Given the description of an element on the screen output the (x, y) to click on. 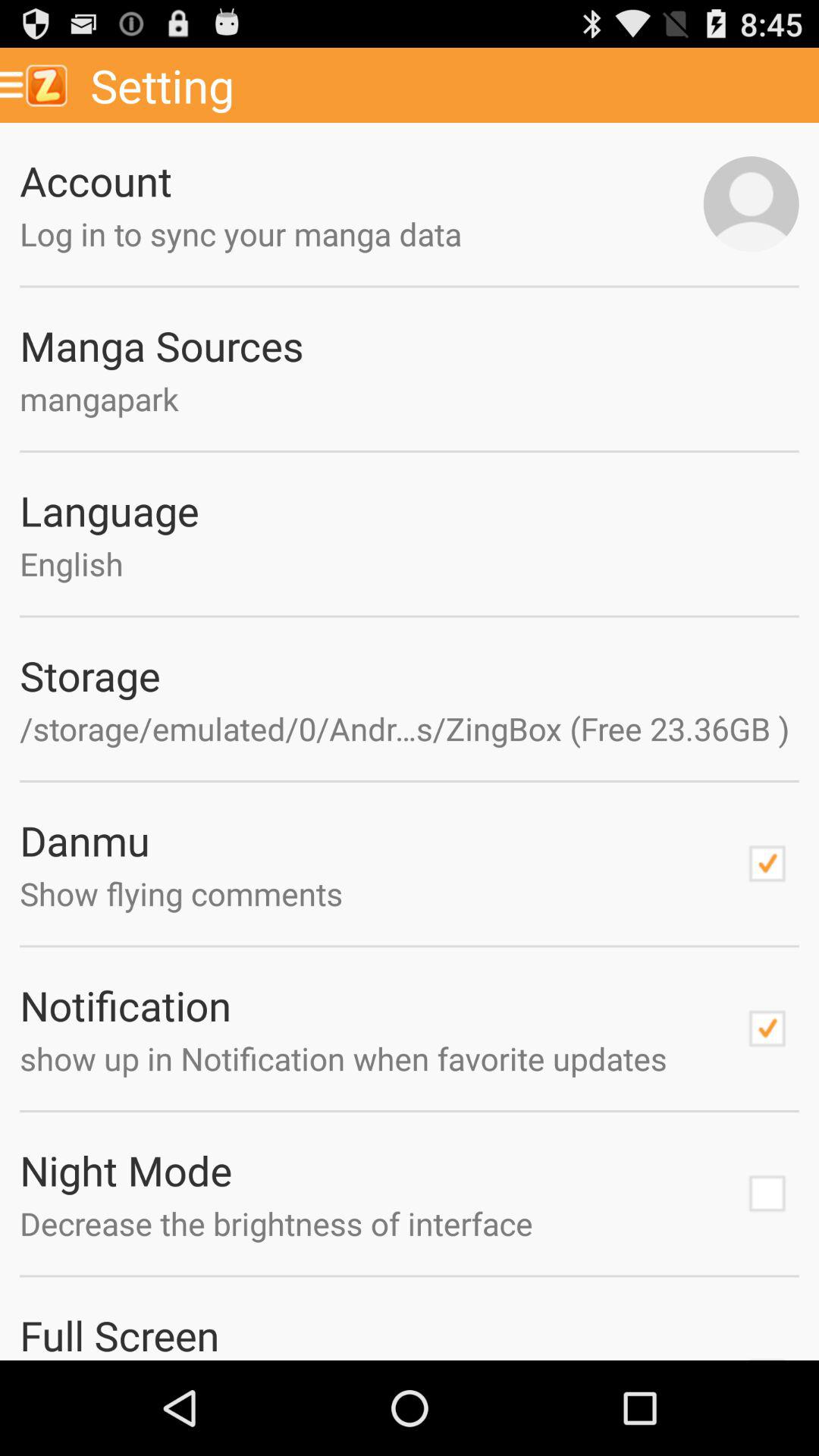
turn off the log in to app (361, 233)
